Given the description of an element on the screen output the (x, y) to click on. 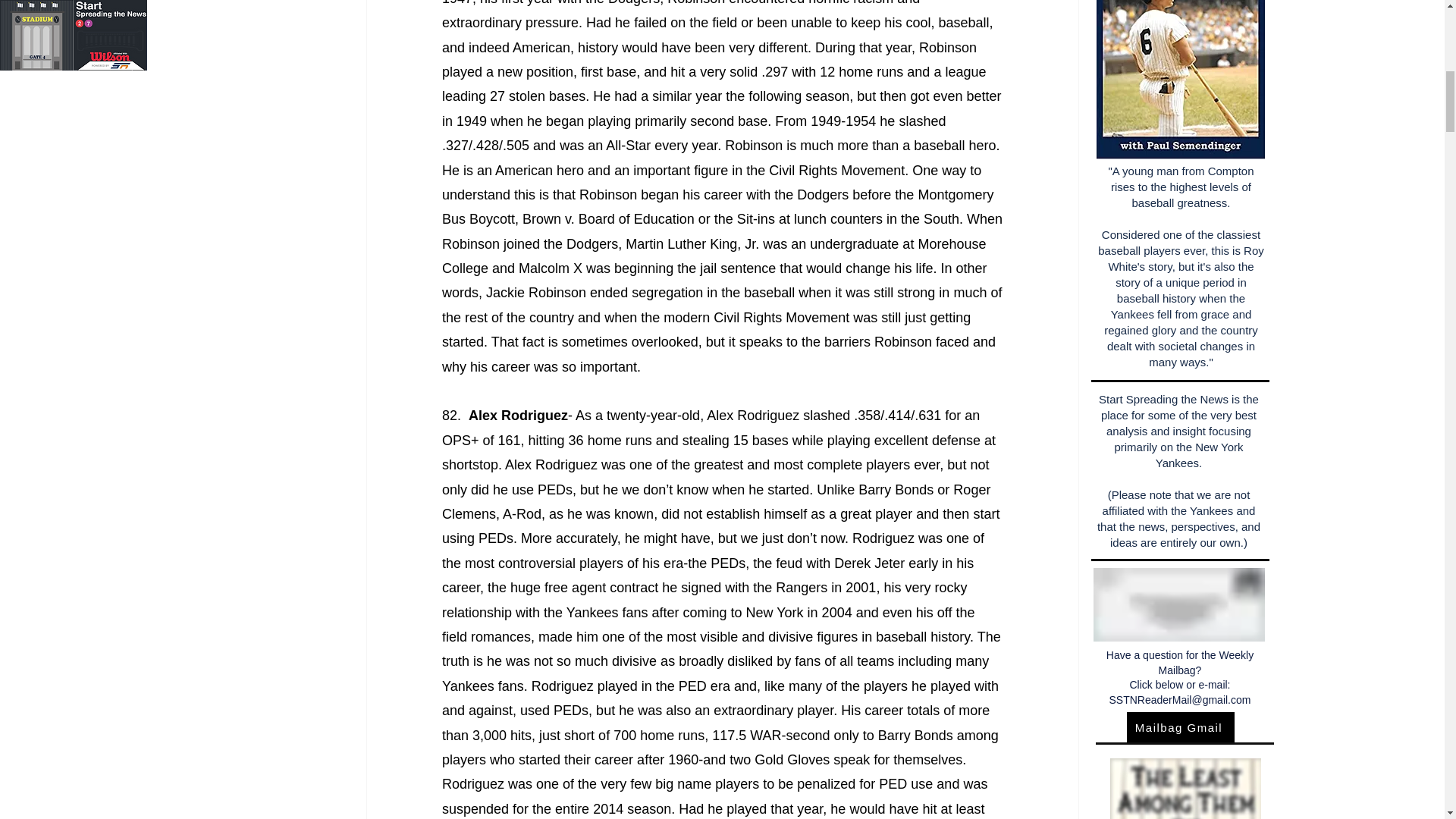
Mailbag Gmail (1180, 726)
